Given the description of an element on the screen output the (x, y) to click on. 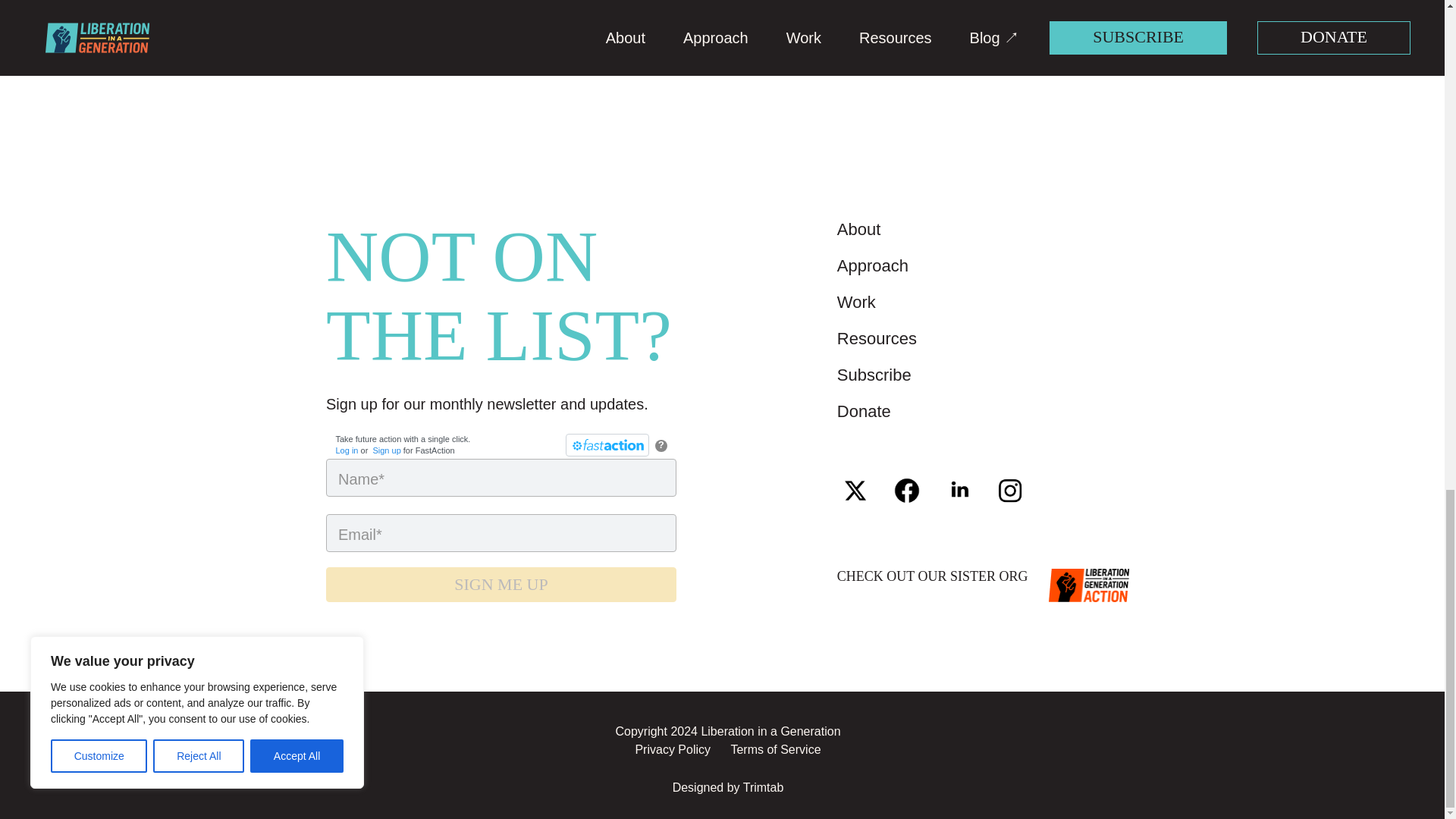
Sign me up (501, 584)
